Given the description of an element on the screen output the (x, y) to click on. 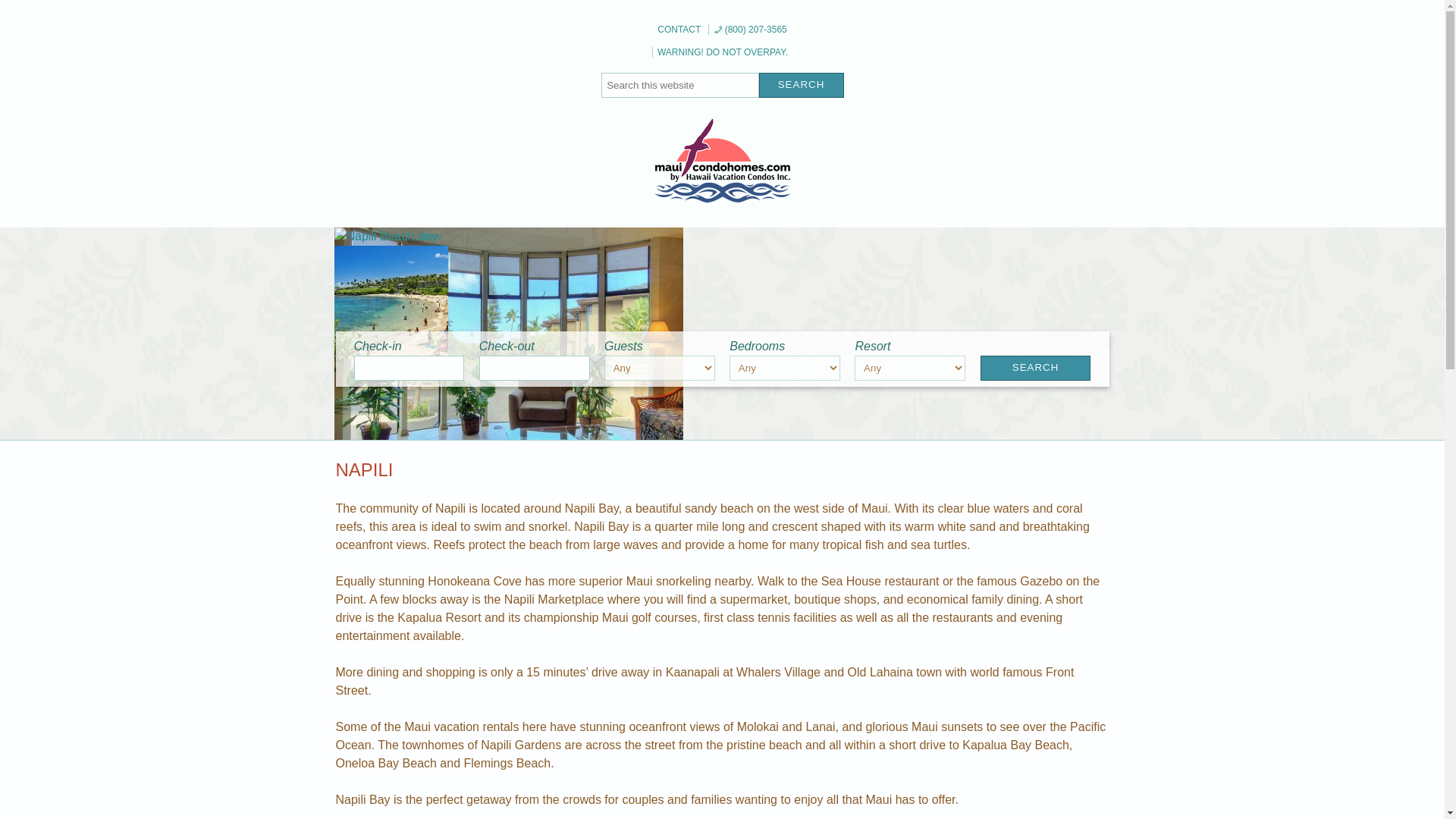
Search (800, 84)
Search (1034, 367)
Search (800, 84)
Search (1034, 367)
WARNING! DO NOT OVERPAY. (722, 51)
CONTACT (678, 29)
Maui Condo Homes (706, 236)
Search (800, 84)
